Given the description of an element on the screen output the (x, y) to click on. 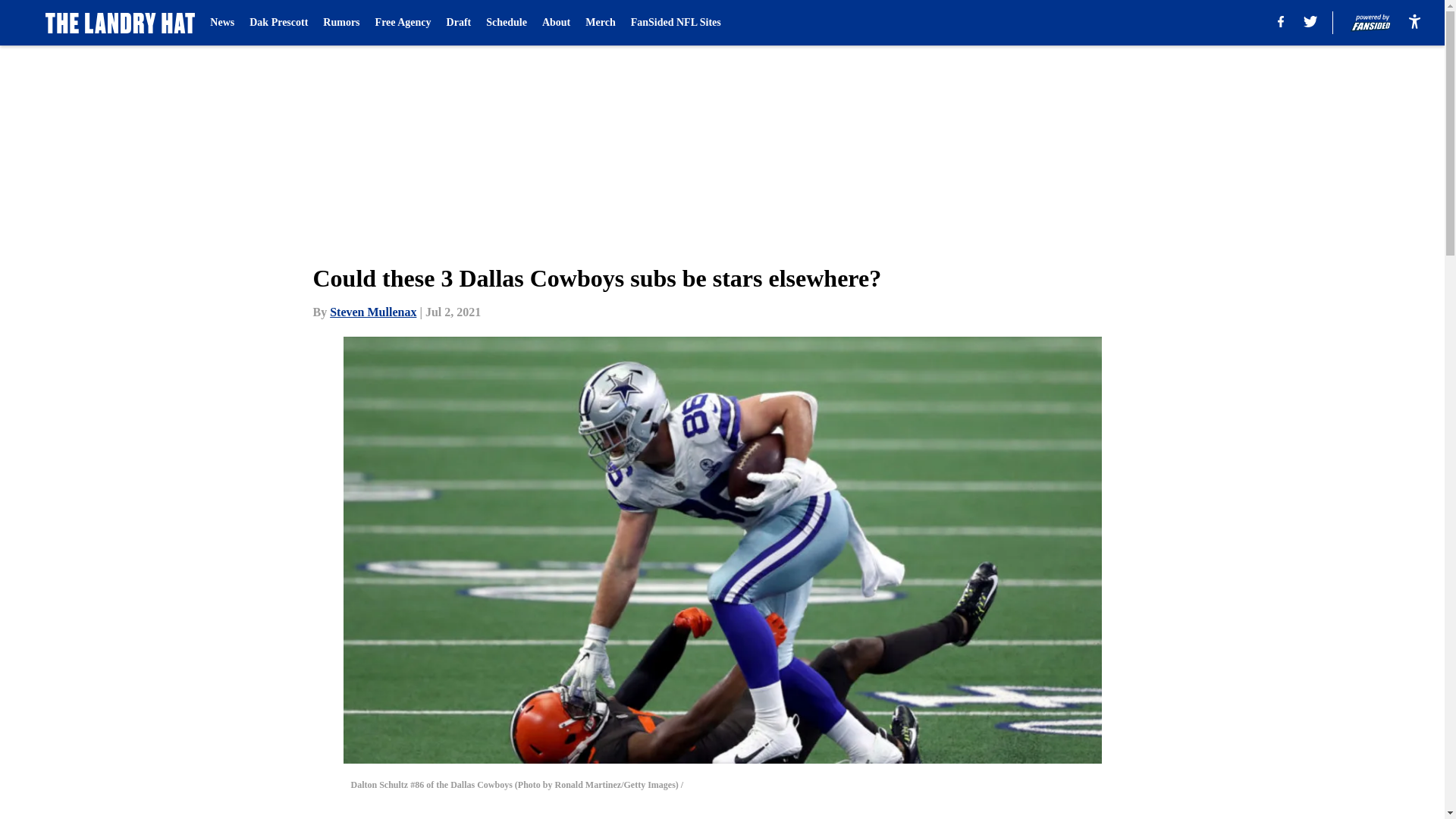
Dak Prescott (277, 22)
Rumors (341, 22)
About (555, 22)
Draft (458, 22)
Schedule (506, 22)
Free Agency (402, 22)
FanSided NFL Sites (675, 22)
Merch (599, 22)
News (221, 22)
Steven Mullenax (373, 311)
